Given the description of an element on the screen output the (x, y) to click on. 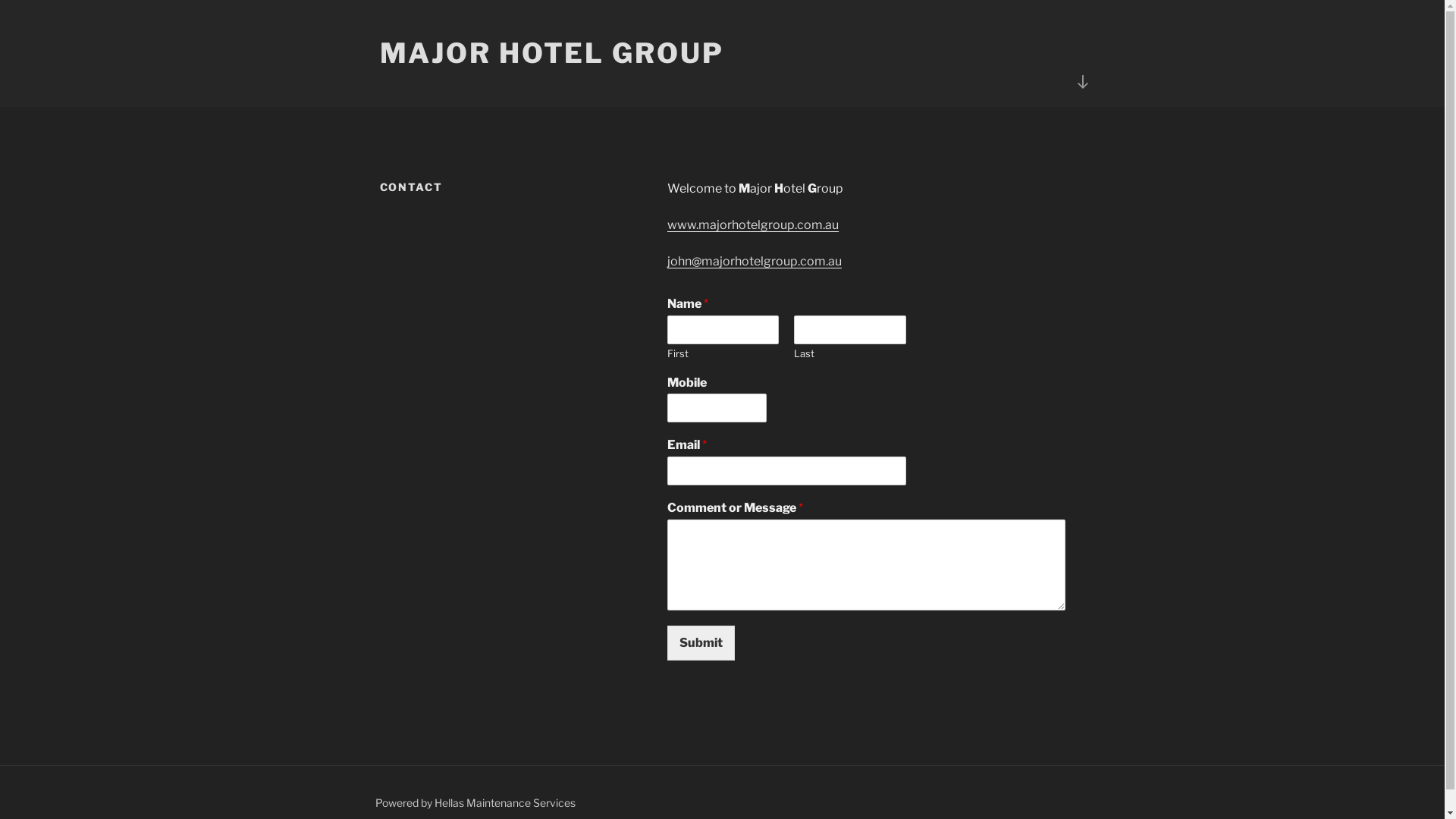
Submit Element type: text (700, 642)
Scroll down to content Element type: text (1082, 81)
john@majorhotelgroup.com.au Element type: text (754, 261)
MAJOR HOTEL GROUP Element type: text (551, 52)
Powered by Hellas Maintenance Services Element type: text (474, 802)
www.majorhotelgroup.com.au Element type: text (752, 224)
